Given the description of an element on the screen output the (x, y) to click on. 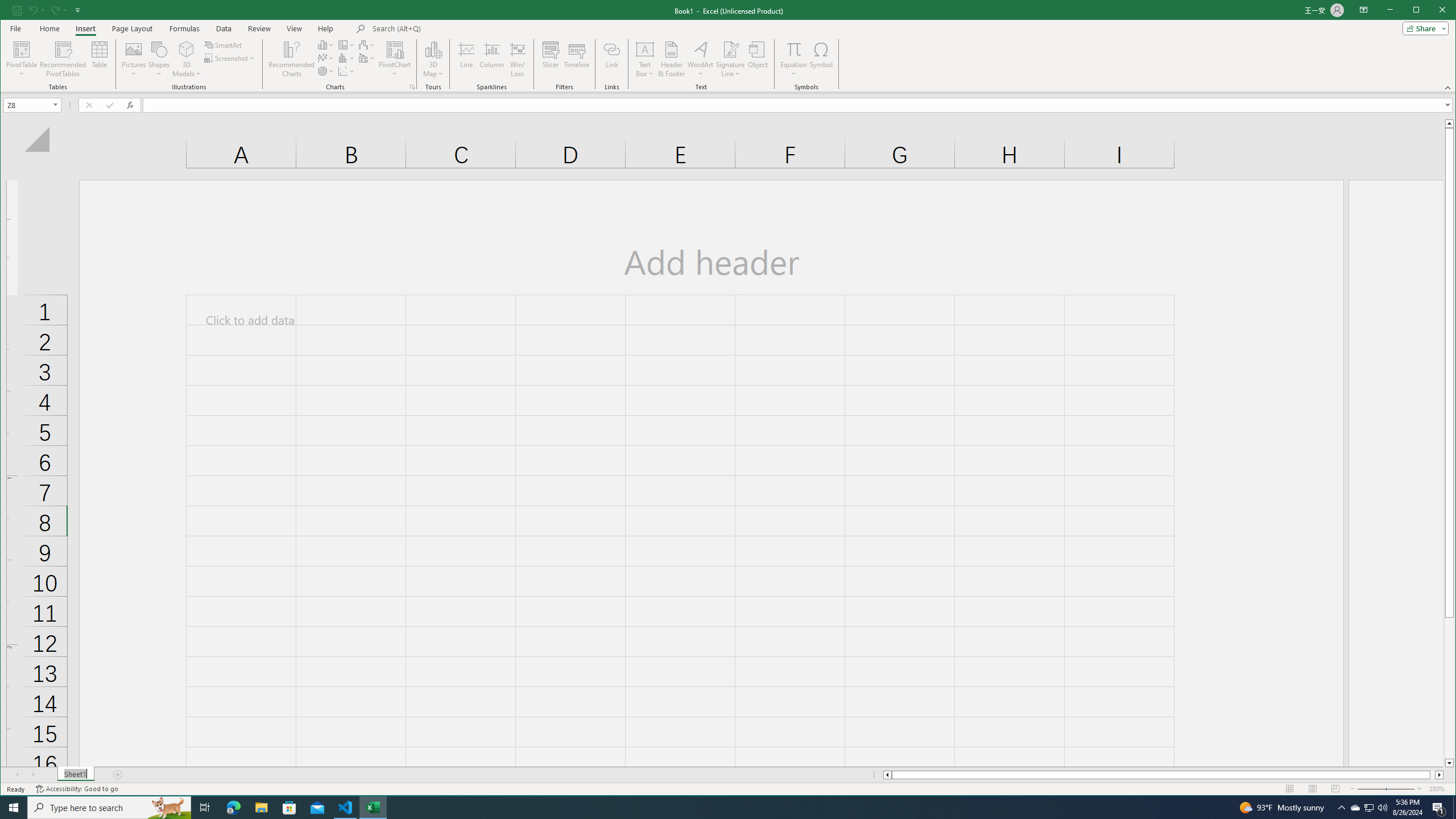
Recommended PivotTables (63, 59)
Table (99, 59)
3D Models (186, 59)
Start (13, 807)
Action Center, 1 new notification (1439, 807)
Insert Line or Area Chart (325, 57)
3D Models (186, 48)
Object... (757, 59)
Draw Horizontal Text Box (644, 48)
